Given the description of an element on the screen output the (x, y) to click on. 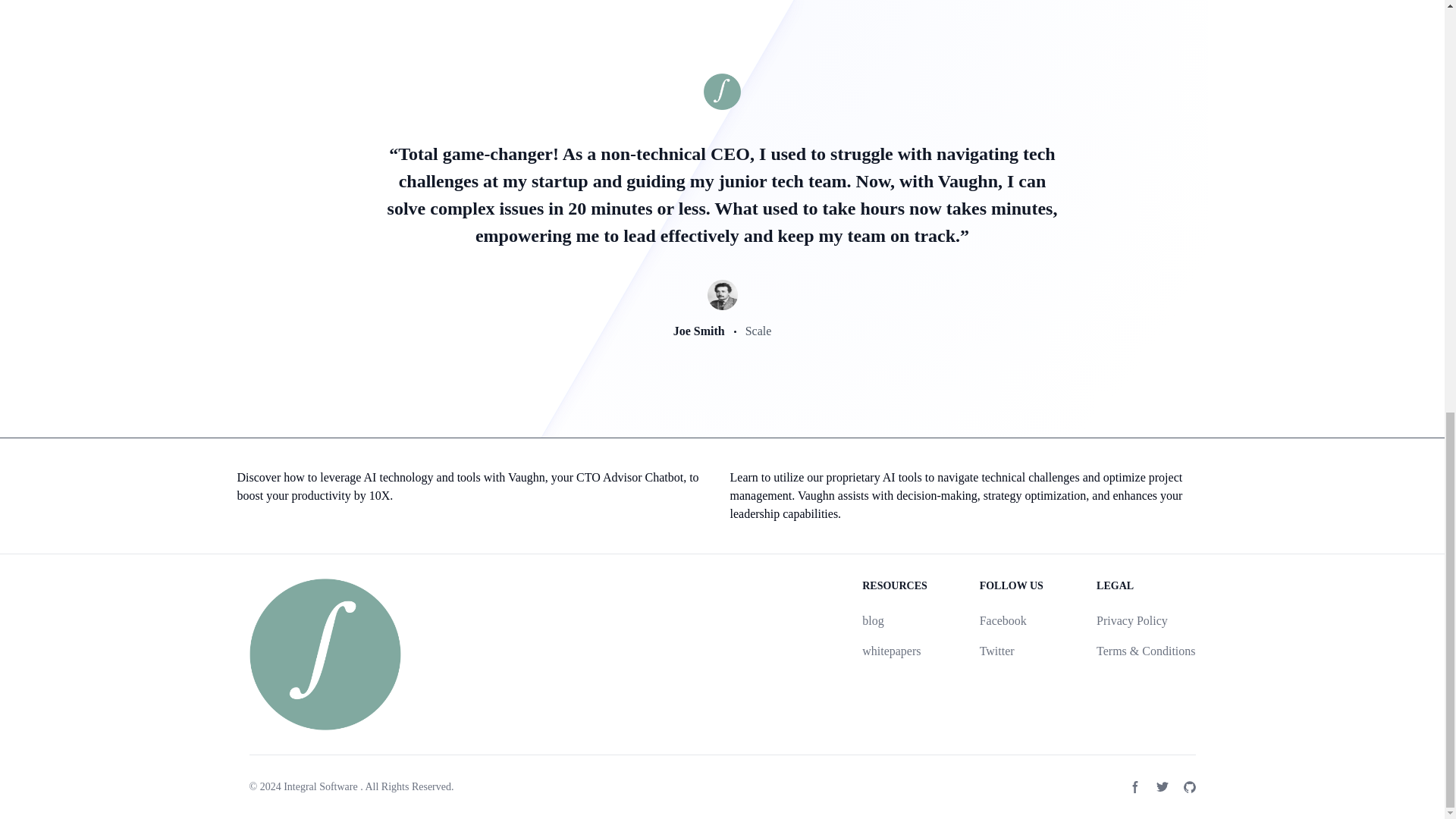
Integral Software (320, 786)
Facebook (1002, 620)
whitepapers (890, 650)
Twitter (996, 650)
Privacy Policy (1131, 620)
Twitter page (1161, 787)
GitHub account (1188, 787)
Facebook page (1134, 787)
blog (872, 620)
